Given the description of an element on the screen output the (x, y) to click on. 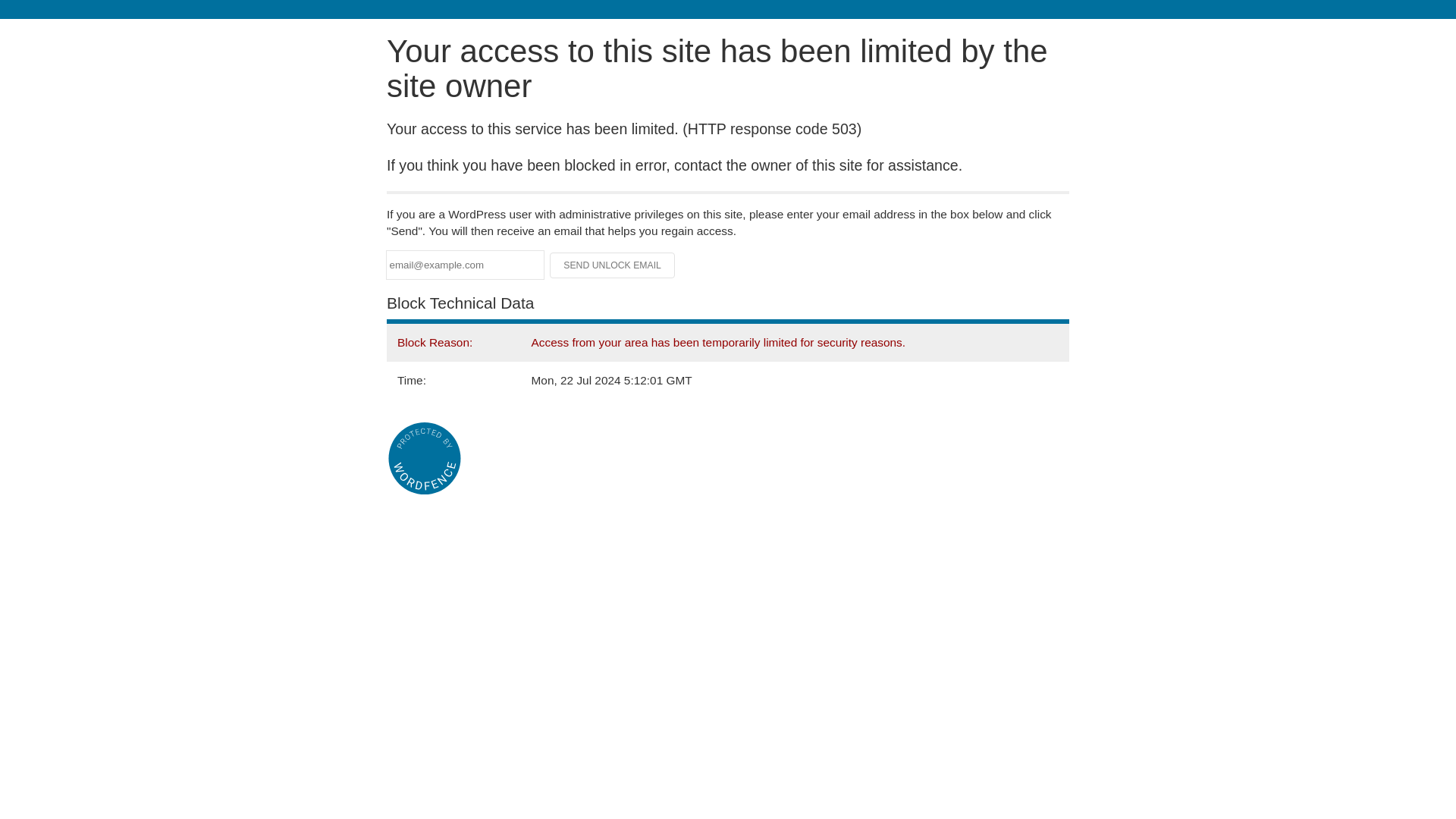
Send Unlock Email (612, 265)
Send Unlock Email (612, 265)
